Given the description of an element on the screen output the (x, y) to click on. 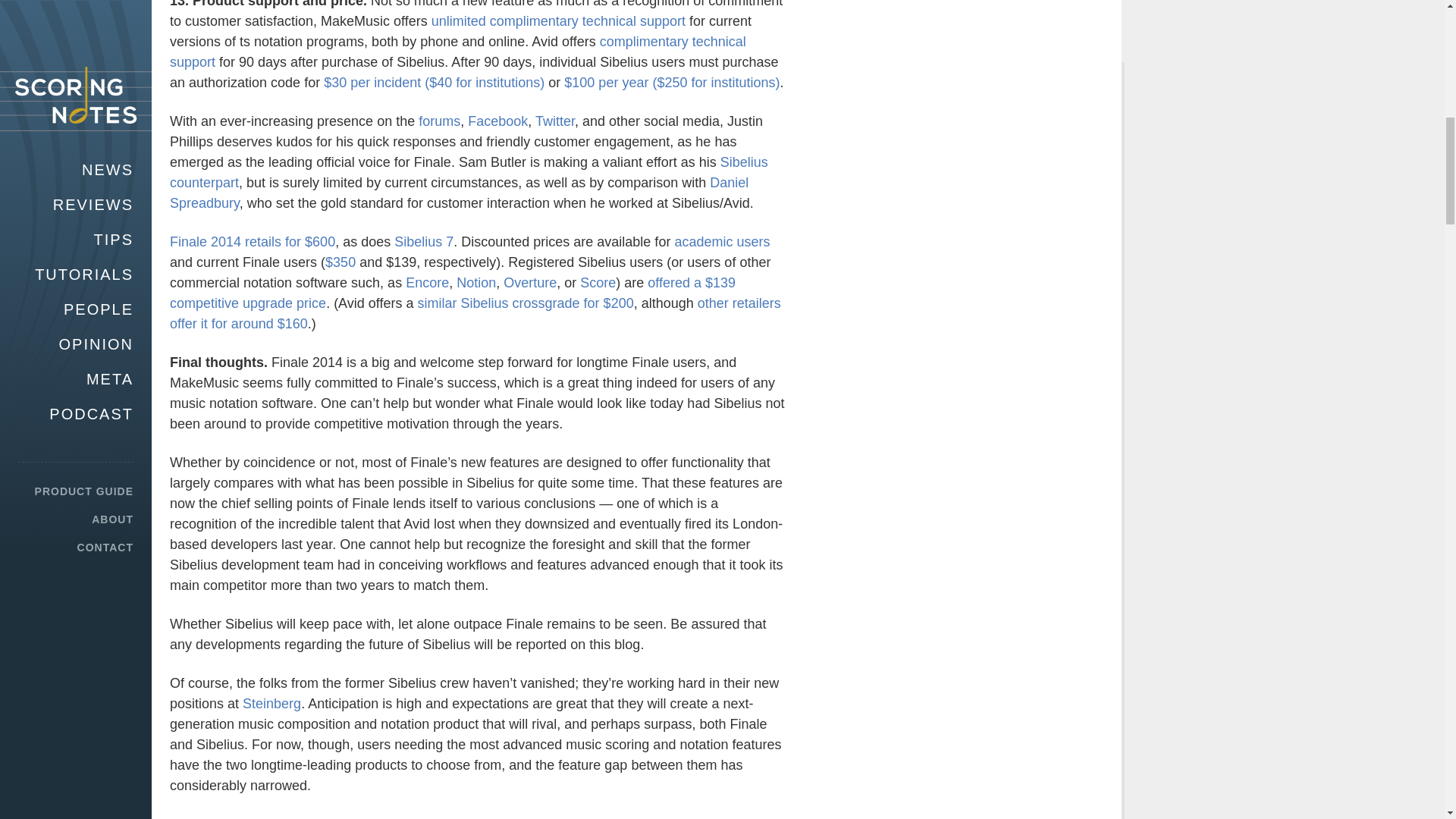
Notion (476, 282)
complimentary technical support (457, 51)
Finale (497, 120)
Single Incident Support (433, 82)
unlimited complimentary technical support (557, 20)
Twitter (555, 120)
Facebook (497, 120)
Overture (529, 282)
forums (439, 120)
Annual Support (671, 82)
